Given the description of an element on the screen output the (x, y) to click on. 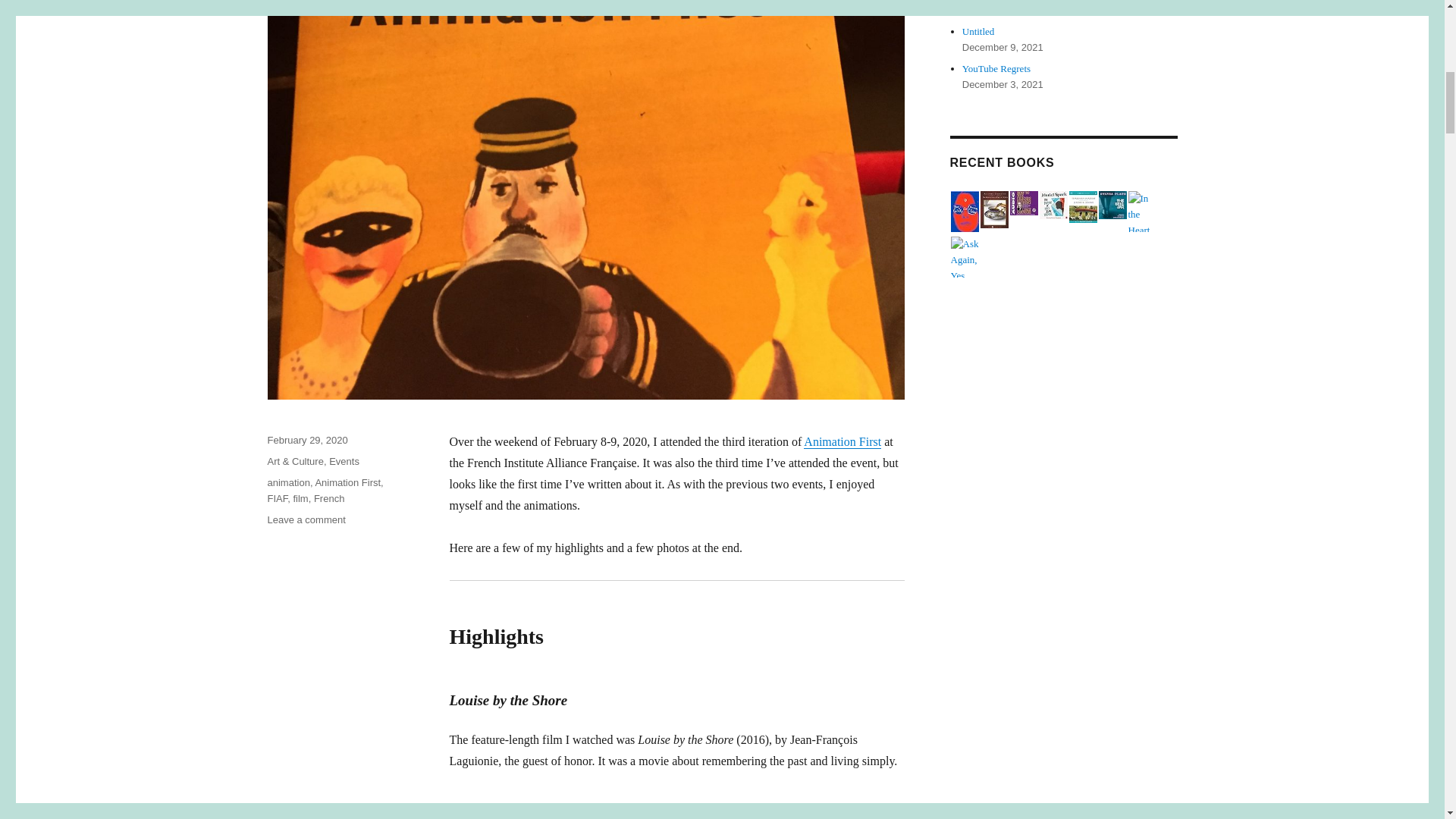
The Bell Jar (1111, 204)
February 29, 2020 (306, 439)
French (328, 498)
film (299, 498)
FIAF (276, 498)
How to Win Friends and Influence People (1024, 203)
Animation First (347, 482)
The Prime of Miss Jean Brodie (1053, 204)
Events (305, 519)
